Given the description of an element on the screen output the (x, y) to click on. 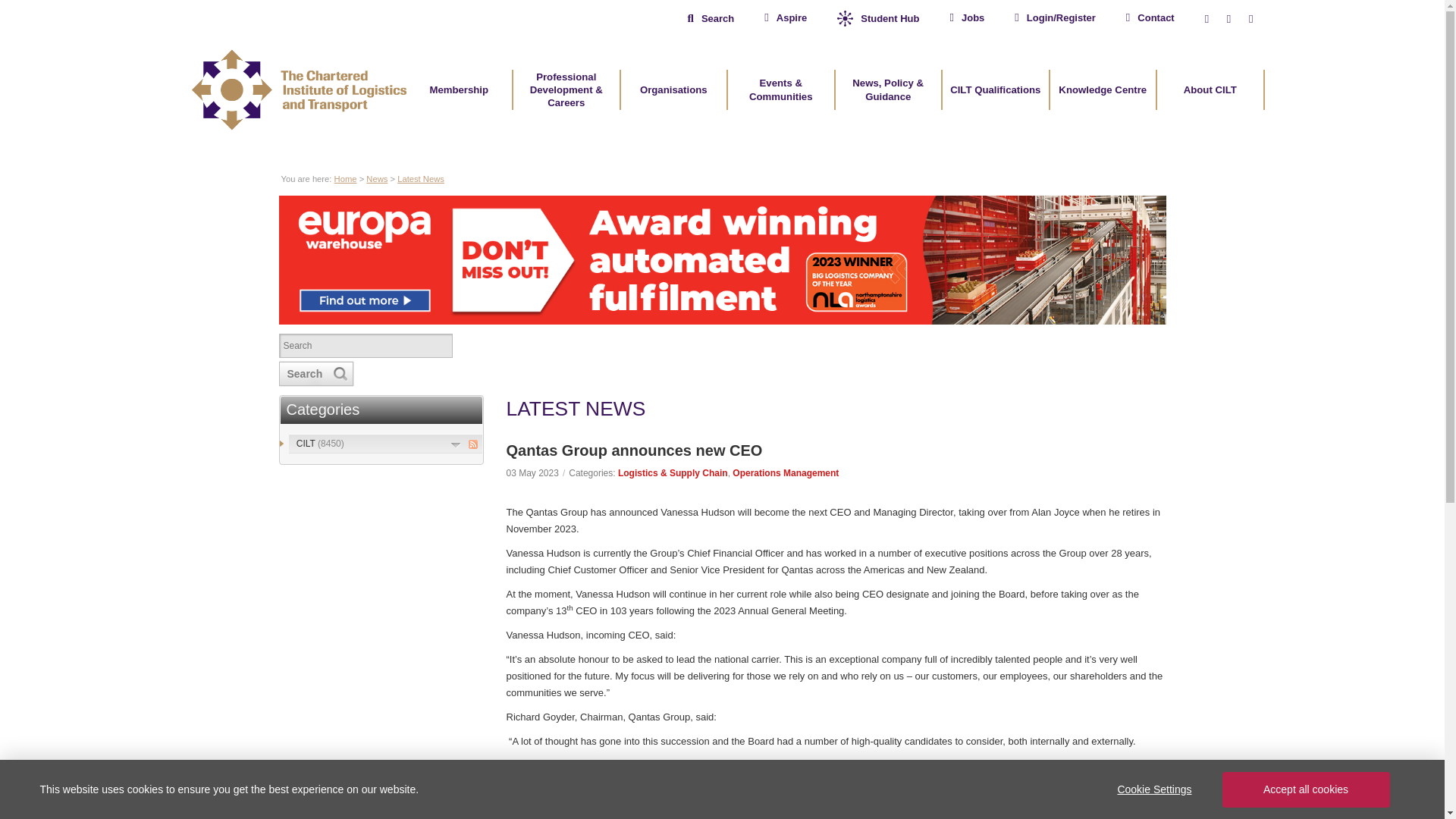
CILT (320, 443)
Accept all cookies (1306, 789)
Organisations (673, 89)
Membership (459, 89)
Student Hub (877, 18)
Contact (1149, 17)
Search (368, 345)
Cookie Settings (1153, 788)
Jobs (966, 17)
Aspire (785, 17)
RSS (472, 443)
